Given the description of an element on the screen output the (x, y) to click on. 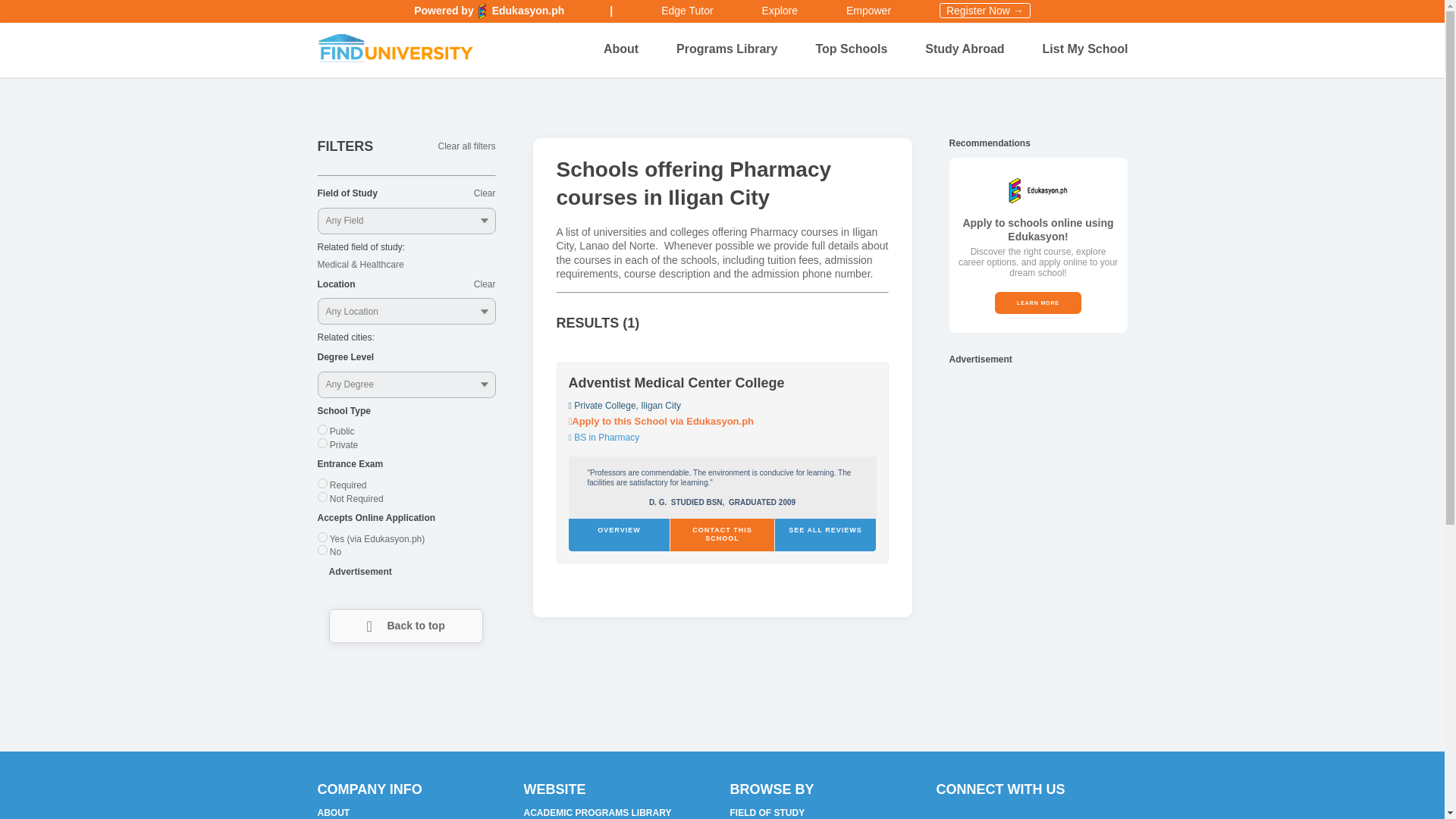
Edge Tutor (687, 10)
Top Schools (850, 50)
Back to top (406, 625)
CONTACT THIS SCHOOL (721, 534)
on (321, 483)
Register Now (984, 10)
on (321, 537)
Not Required (357, 498)
Explore (779, 10)
Finder (779, 10)
